Given the description of an element on the screen output the (x, y) to click on. 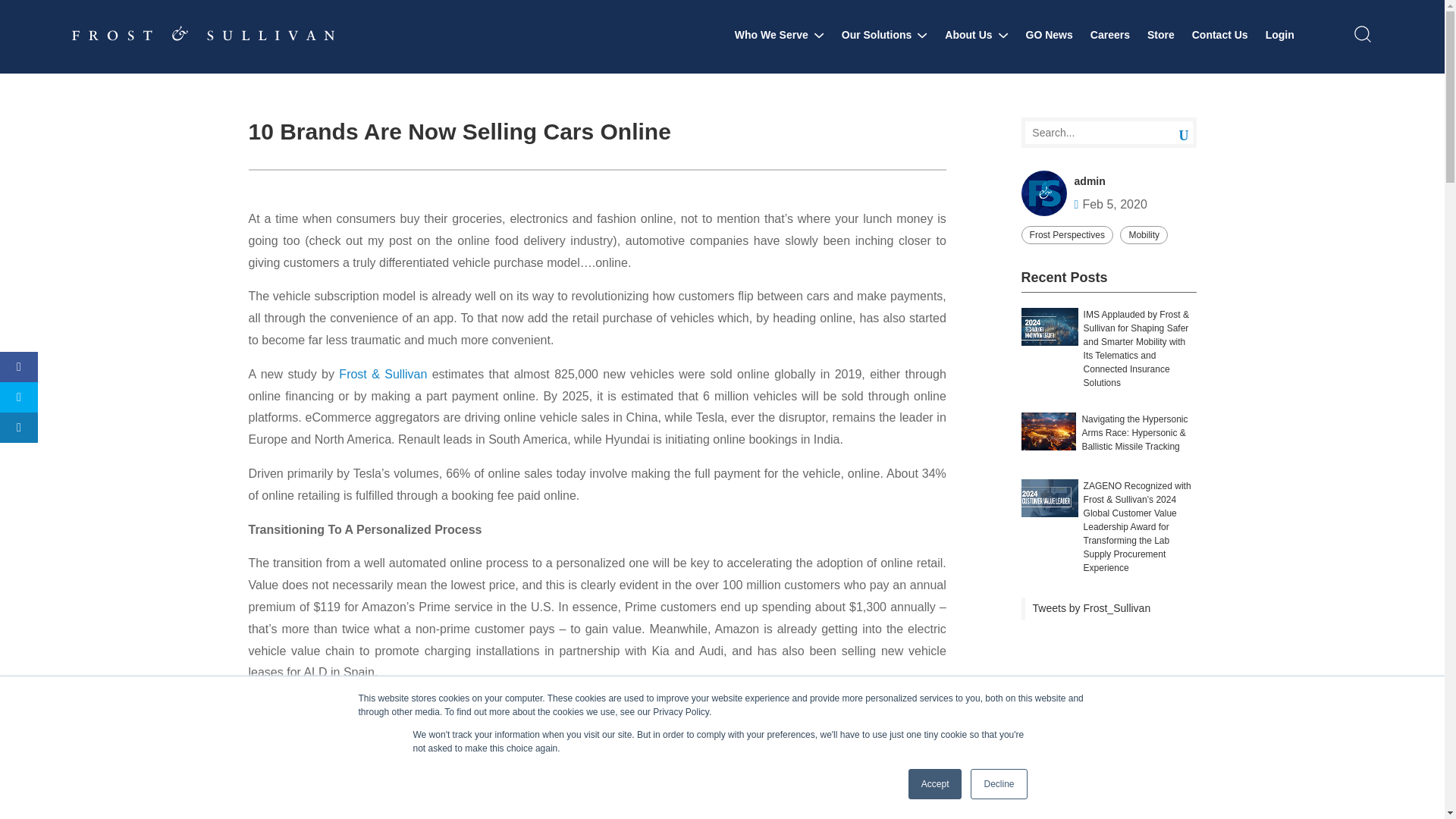
Decline (998, 784)
Accept (935, 784)
Search (1172, 132)
Who We Serve (779, 35)
